Given the description of an element on the screen output the (x, y) to click on. 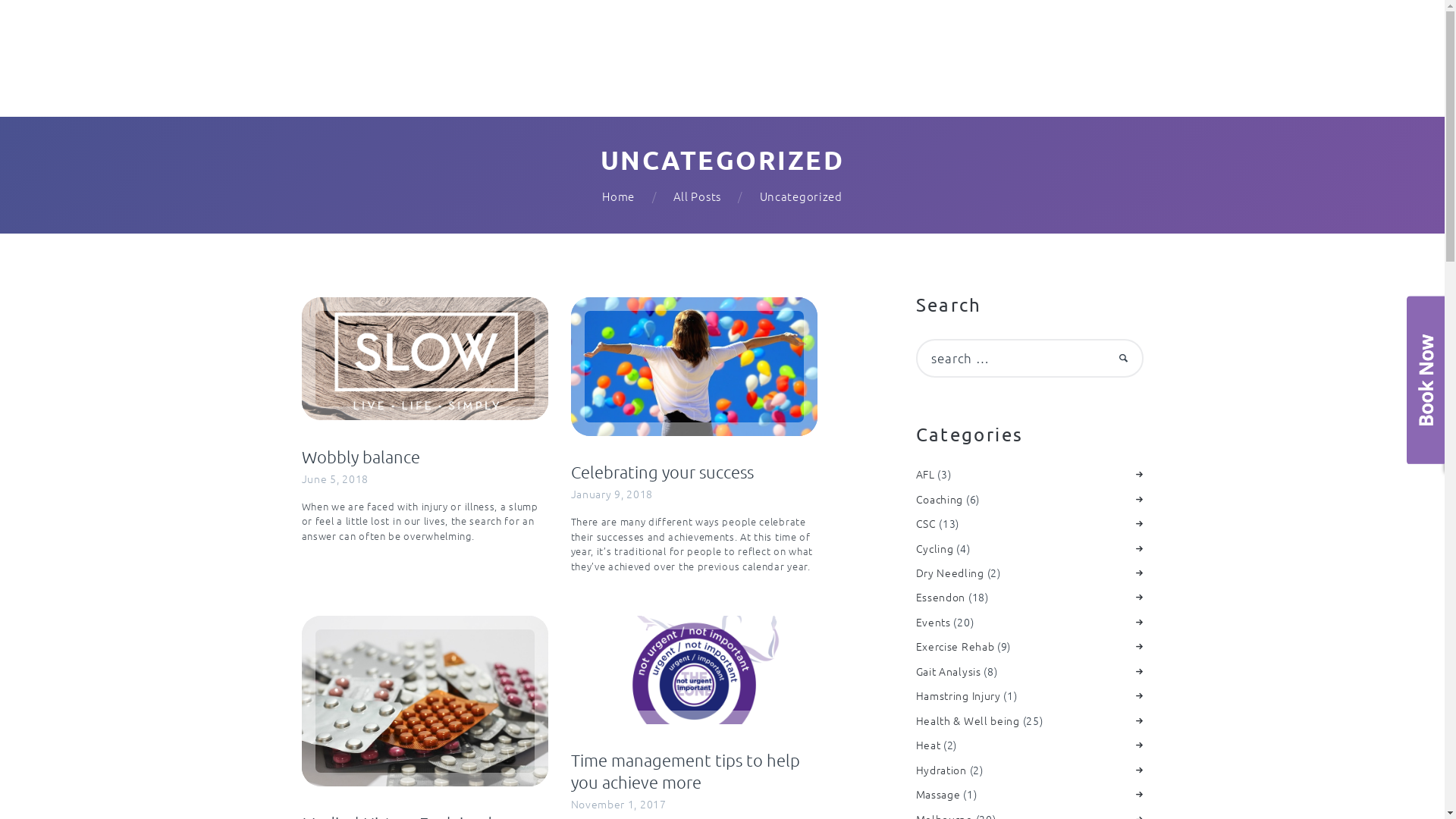
June 5, 2018 Element type: text (334, 478)
January 9, 2018 Element type: text (611, 493)
AFL Element type: text (925, 473)
Home Element type: text (618, 196)
All Posts Element type: text (697, 195)
Essendon Element type: text (941, 596)
Gait Analysis Element type: text (948, 670)
November 1, 2017 Element type: text (617, 803)
Coaching Element type: text (939, 498)
Heat Element type: text (928, 744)
Dry Needling Element type: text (950, 572)
Celebrating your success Element type: text (693, 472)
Hydration Element type: text (941, 769)
Search Element type: text (1117, 357)
Cycling Element type: text (934, 547)
CSC Element type: text (926, 522)
Time management tips to help you achieve more Element type: text (693, 770)
Events Element type: text (933, 621)
Health & Well being Element type: text (967, 720)
Hamstring Injury Element type: text (958, 694)
Massage Element type: text (938, 793)
Exercise Rehab Element type: text (955, 645)
Wobbly balance Element type: text (424, 456)
